Given the description of an element on the screen output the (x, y) to click on. 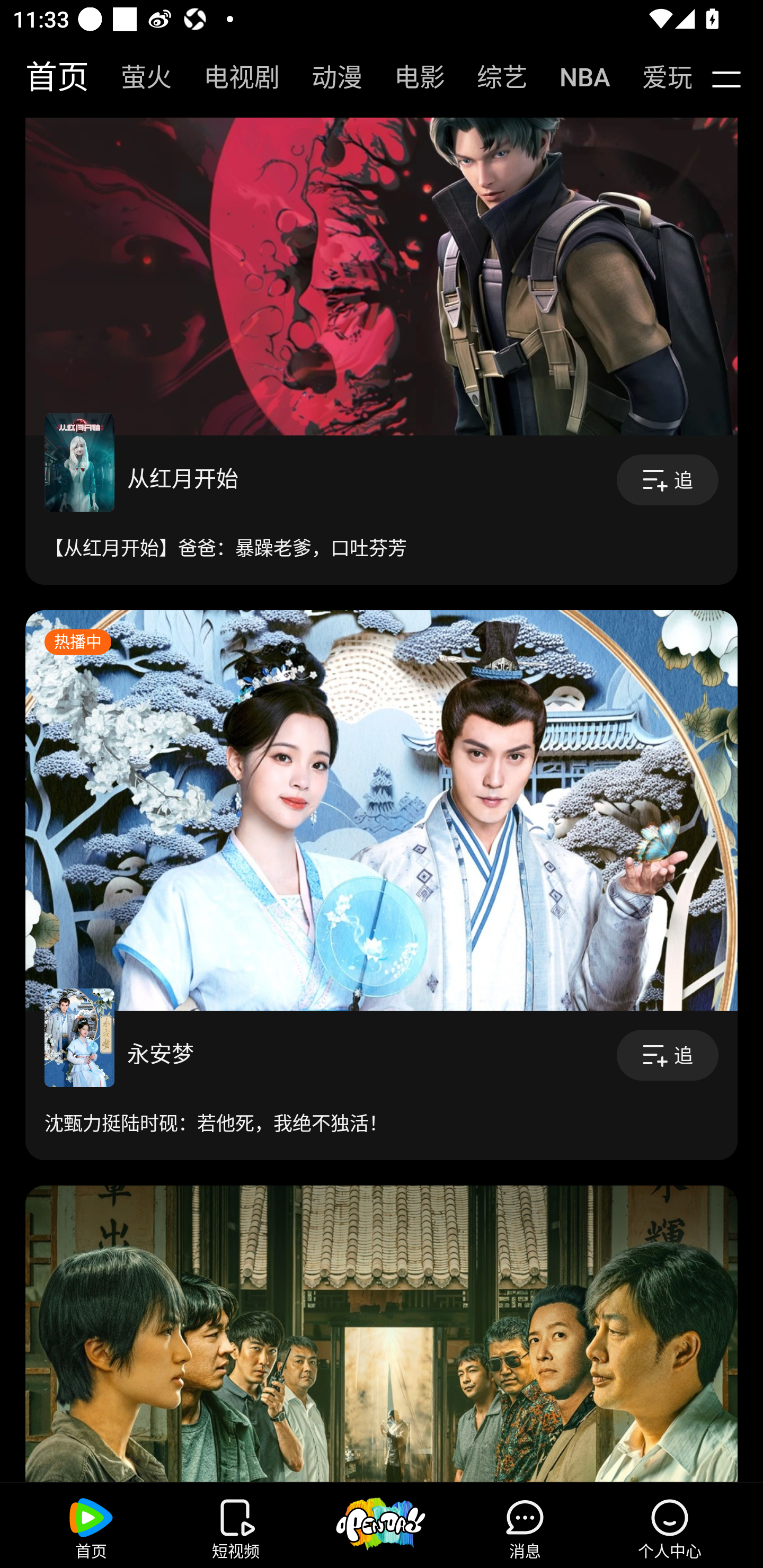
首页 (47, 77)
萤火 (136, 77)
电视剧 (231, 77)
动漫 (327, 77)
电影 (409, 77)
综艺 (492, 77)
NBA (575, 77)
爱玩 (653, 77)
从红月开始 追 【从红月开始】爸爸：暴躁老爹，口吐芬芳 (381, 509)
追 (667, 479)
热播中 (381, 810)
永安梦 追 沈甄力挺陆时砚：若他死，我绝不独活！ (381, 1085)
追 (667, 1055)
